Given the description of an element on the screen output the (x, y) to click on. 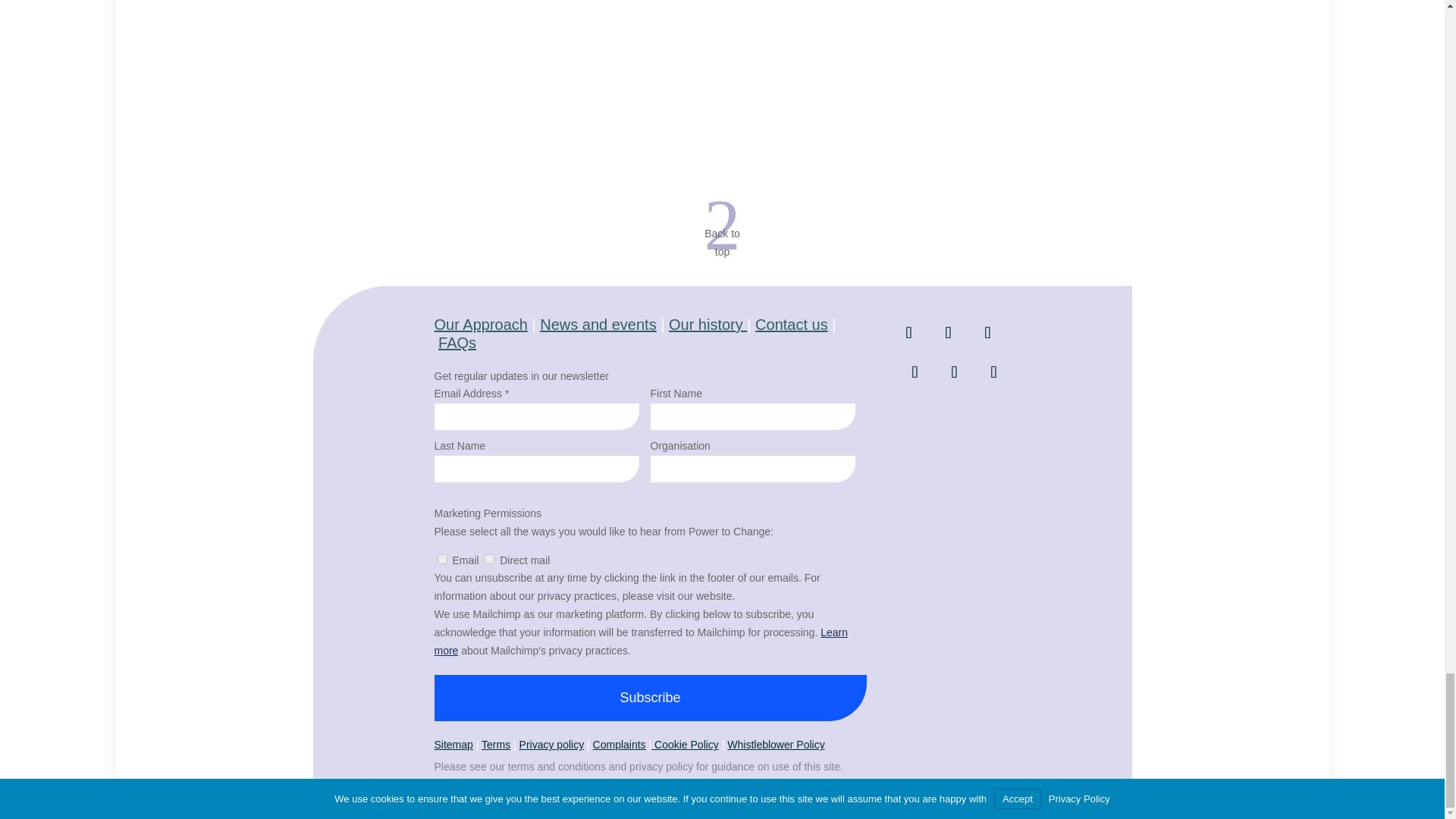
Follow on LinkedIn (947, 332)
Subscribe (649, 697)
Our history (707, 324)
Follow on Instagram (914, 372)
Follow on Facebook (987, 332)
Follow on TikTok (993, 372)
Y (441, 559)
Follow on Youtube (954, 372)
Follow on X (907, 332)
Y (489, 559)
